Given the description of an element on the screen output the (x, y) to click on. 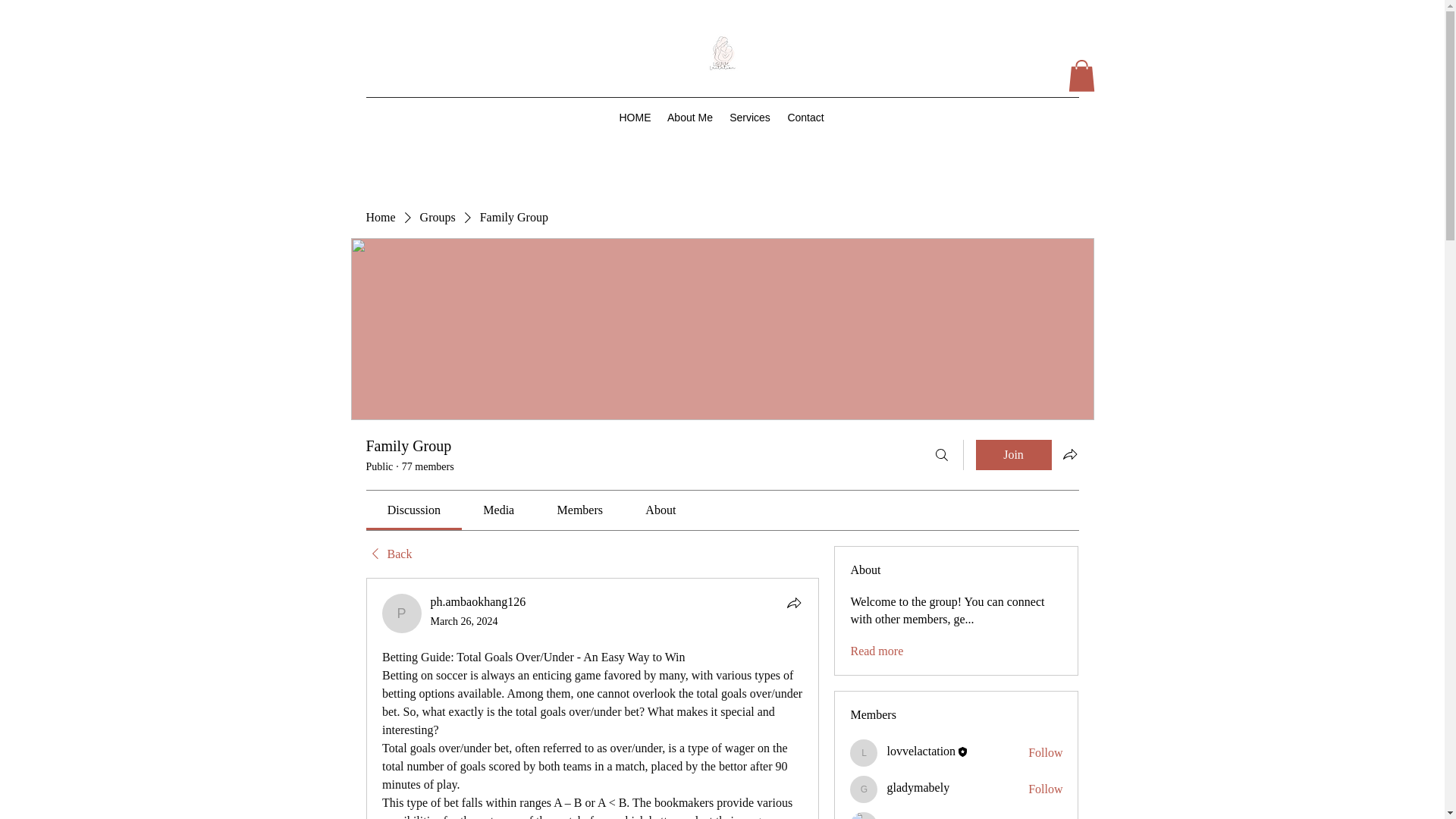
ph.ambaokhang126 (477, 601)
Read more (876, 651)
Home (379, 217)
Contact (804, 117)
March 26, 2024 (463, 621)
Follow (1044, 789)
lovvelactation (920, 750)
gladymabely (863, 789)
ph.ambaokhang126 (401, 613)
Groups (437, 217)
Follow (1044, 752)
Back (388, 554)
About Me (689, 117)
lovvelactation (863, 752)
